Given the description of an element on the screen output the (x, y) to click on. 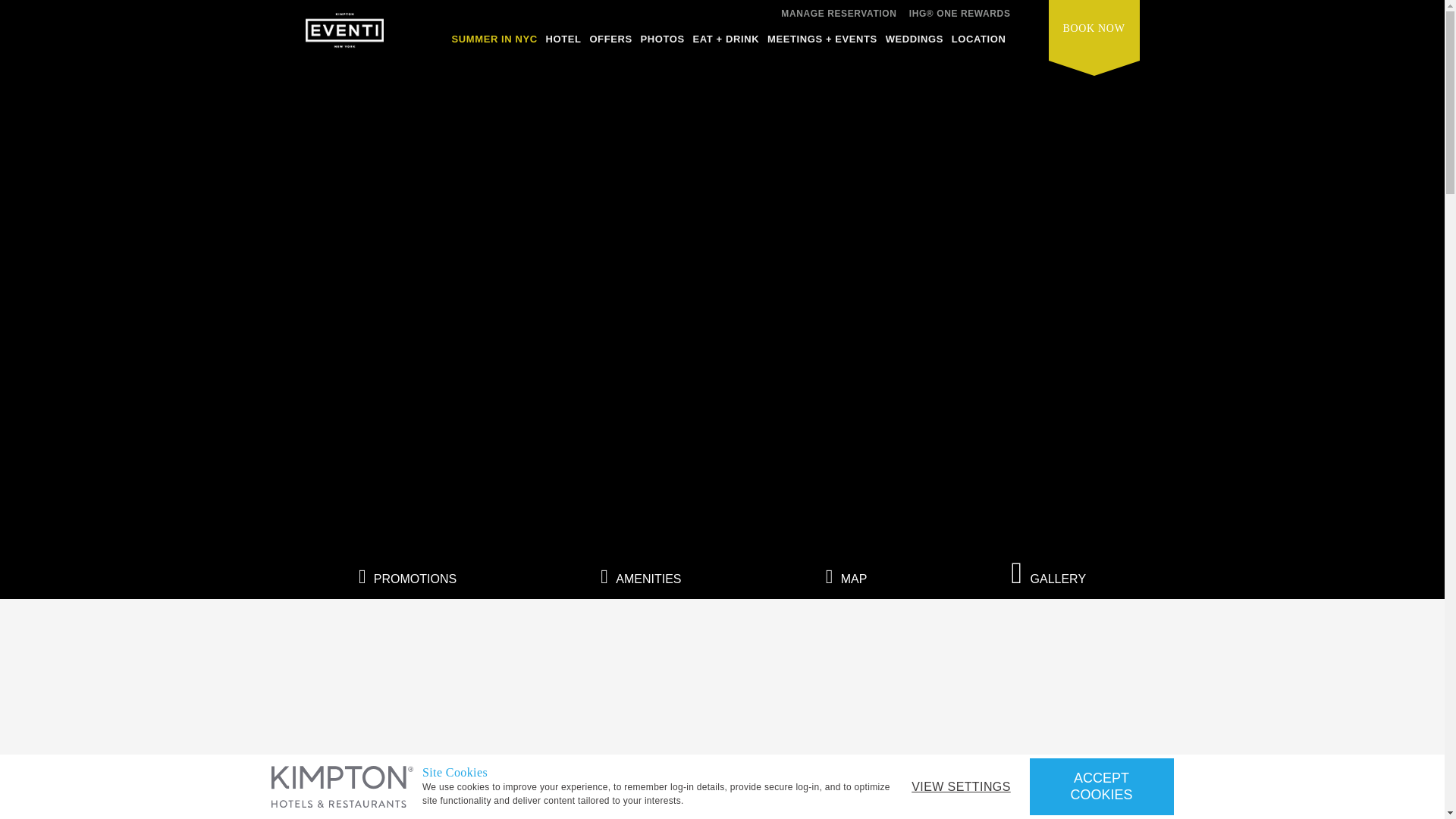
Home (343, 35)
HOTEL (563, 43)
OFFERS (610, 43)
WEDDINGS (914, 43)
PHOTOS (662, 43)
SUMMER IN NYC (494, 43)
